Given the description of an element on the screen output the (x, y) to click on. 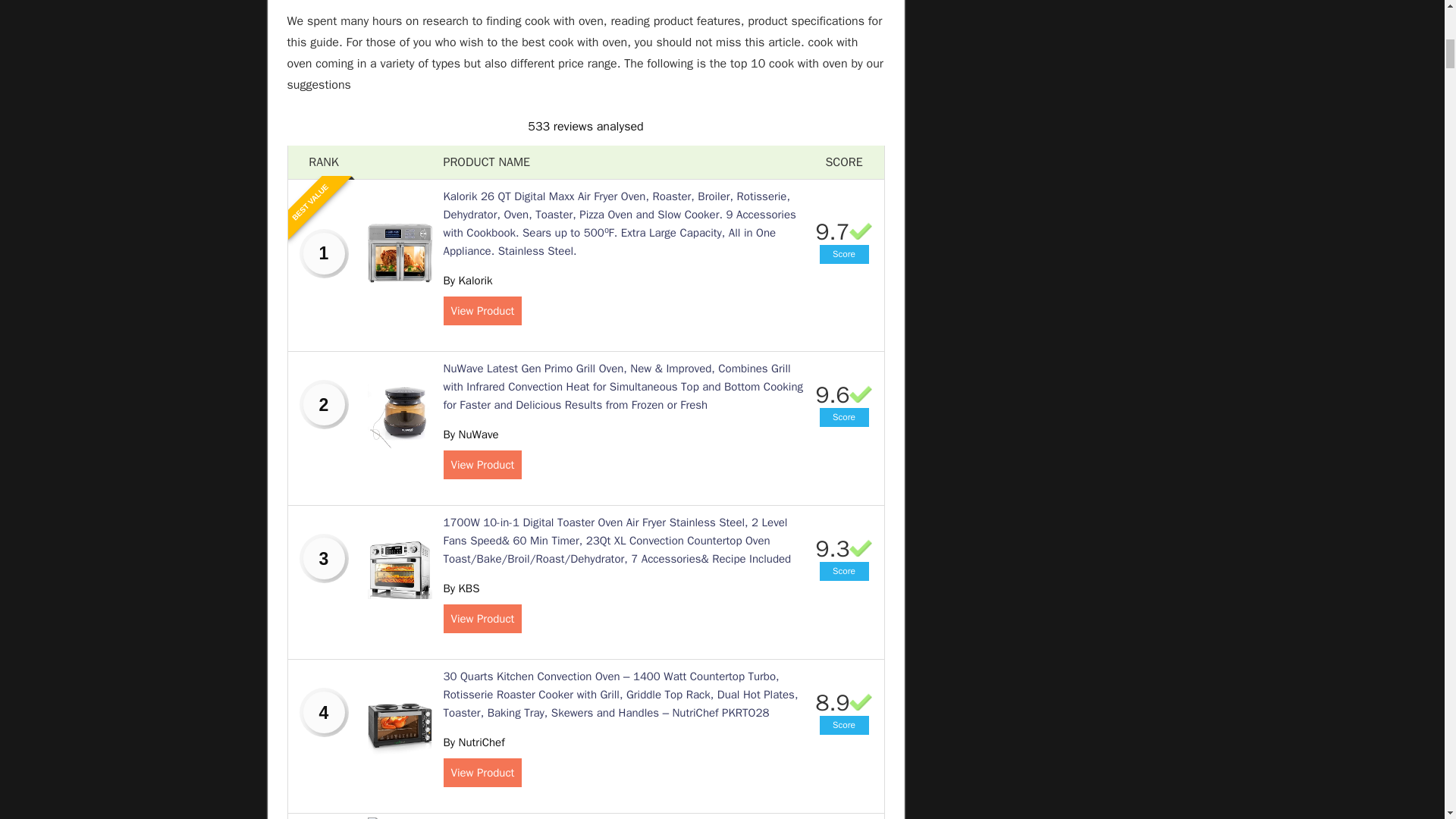
By KBS (460, 588)
By Kalorik (467, 280)
View Product (481, 618)
By NutriChef (472, 742)
By NuWave (469, 434)
View Product (481, 464)
View Product (481, 310)
View Product (481, 772)
